Given the description of an element on the screen output the (x, y) to click on. 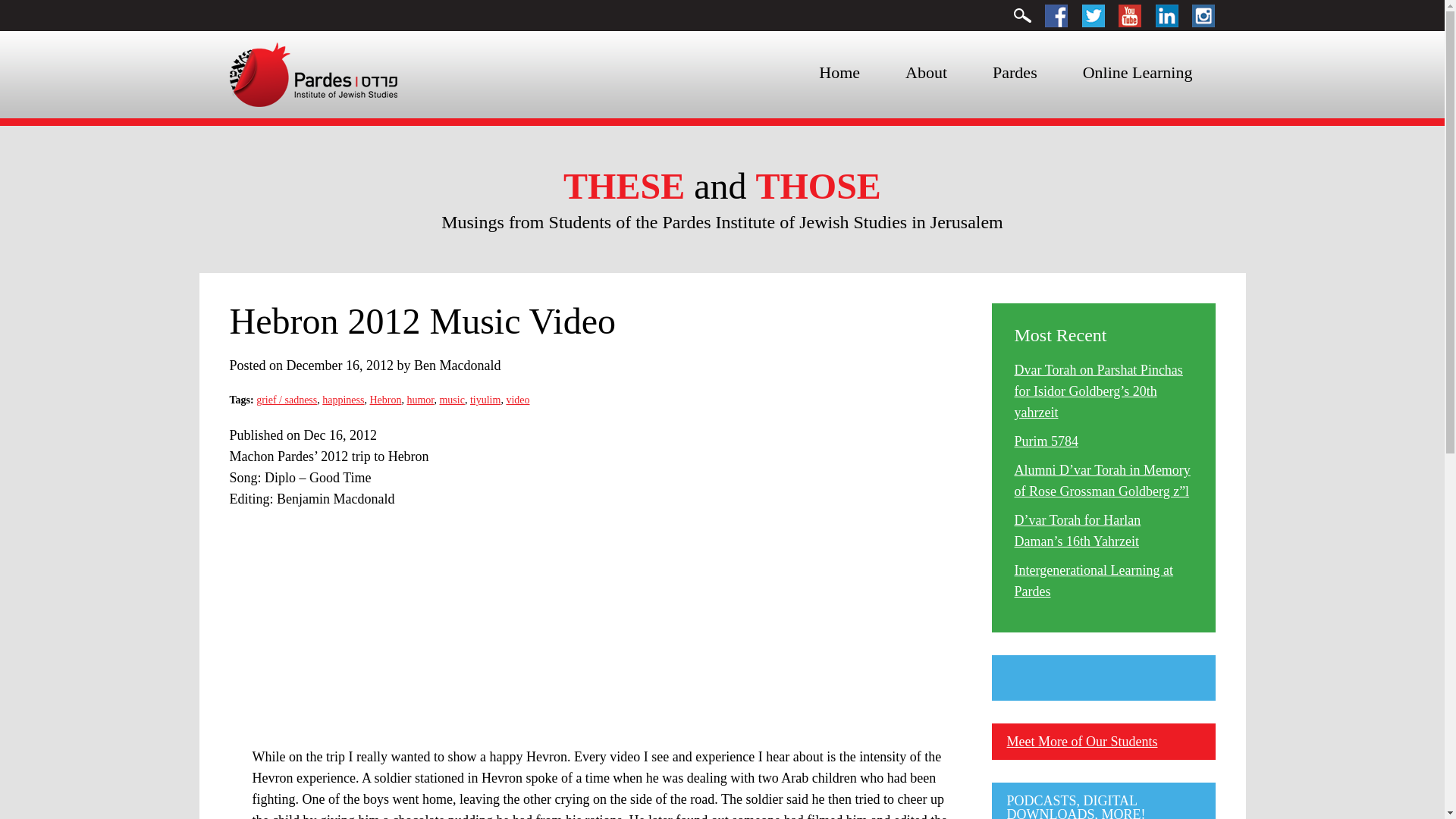
THESE and THOSE (721, 186)
Online Learning (1137, 72)
Purim 5784 (1046, 441)
About (925, 72)
Meet More of Our Students (1082, 741)
music (451, 399)
Hebron (385, 399)
Intergenerational Learning at Pardes (1093, 580)
Return to the homepage (312, 73)
happiness (342, 399)
tiyulim (485, 399)
humor (419, 399)
Pardes (1014, 72)
Home (839, 72)
video (517, 399)
